Given the description of an element on the screen output the (x, y) to click on. 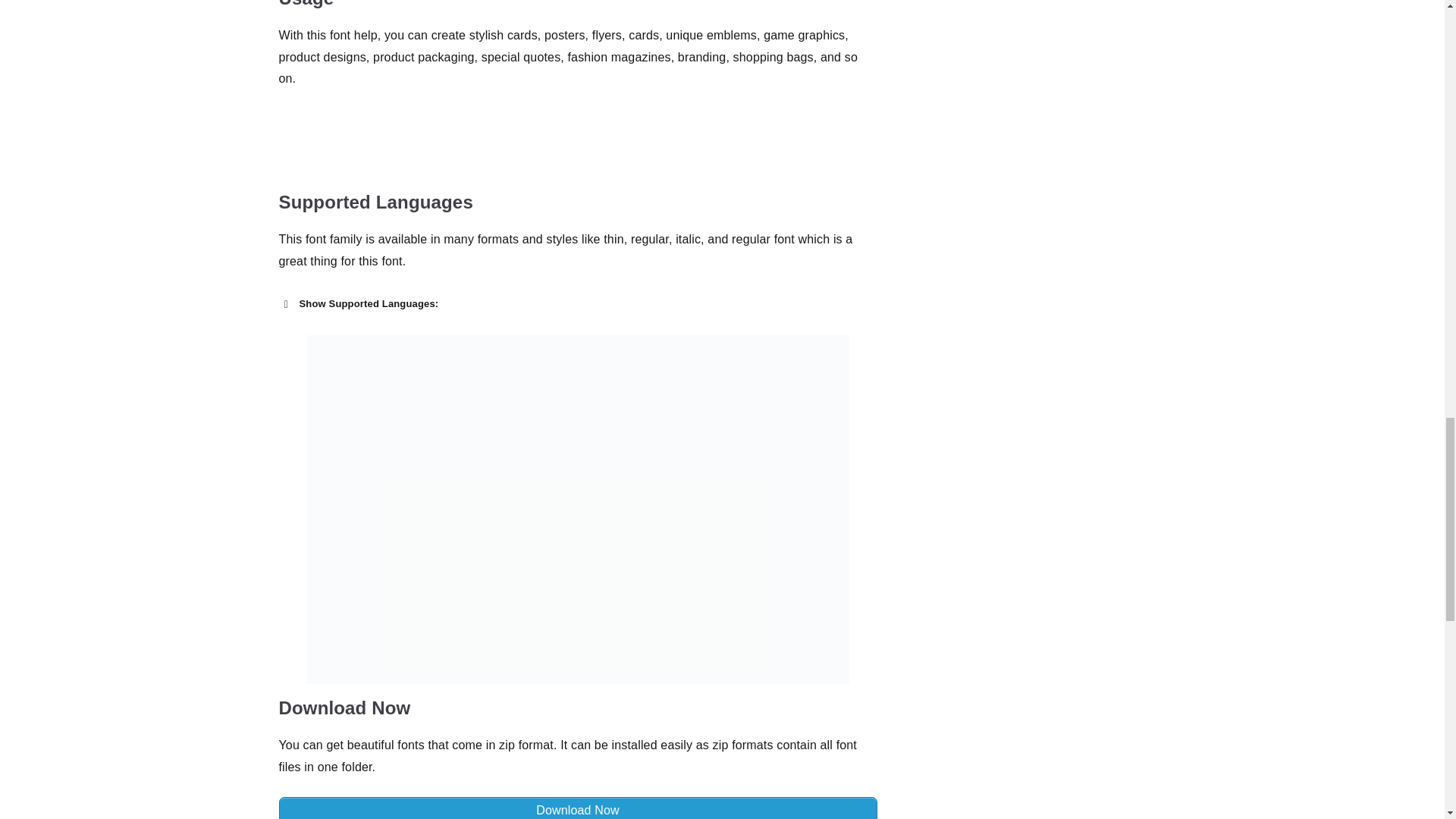
Download Now (578, 807)
